Given the description of an element on the screen output the (x, y) to click on. 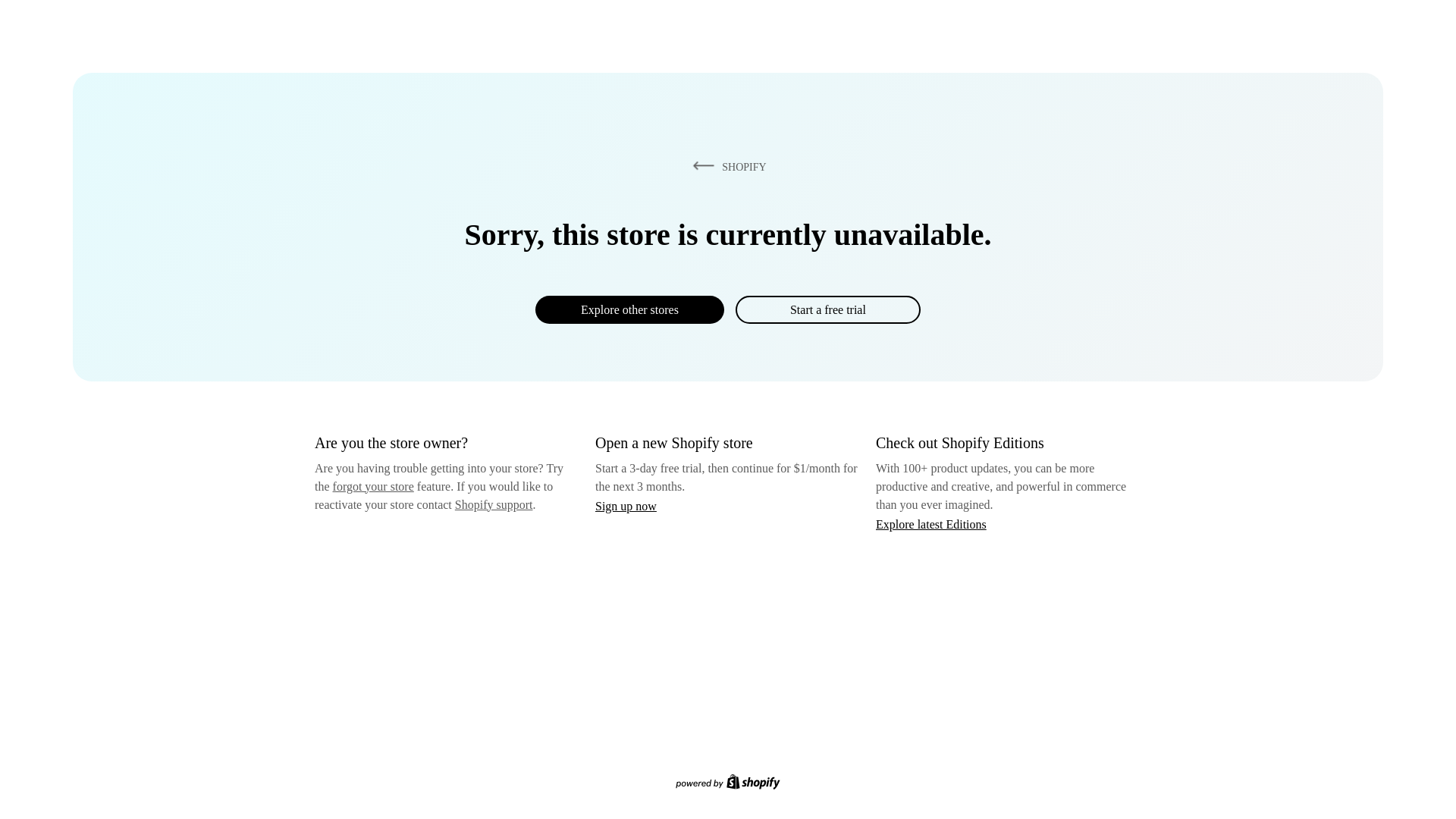
Start a free trial (827, 309)
forgot your store (373, 486)
Explore latest Editions (931, 523)
SHOPIFY (726, 166)
Explore other stores (629, 309)
Sign up now (625, 505)
Shopify support (493, 504)
